Given the description of an element on the screen output the (x, y) to click on. 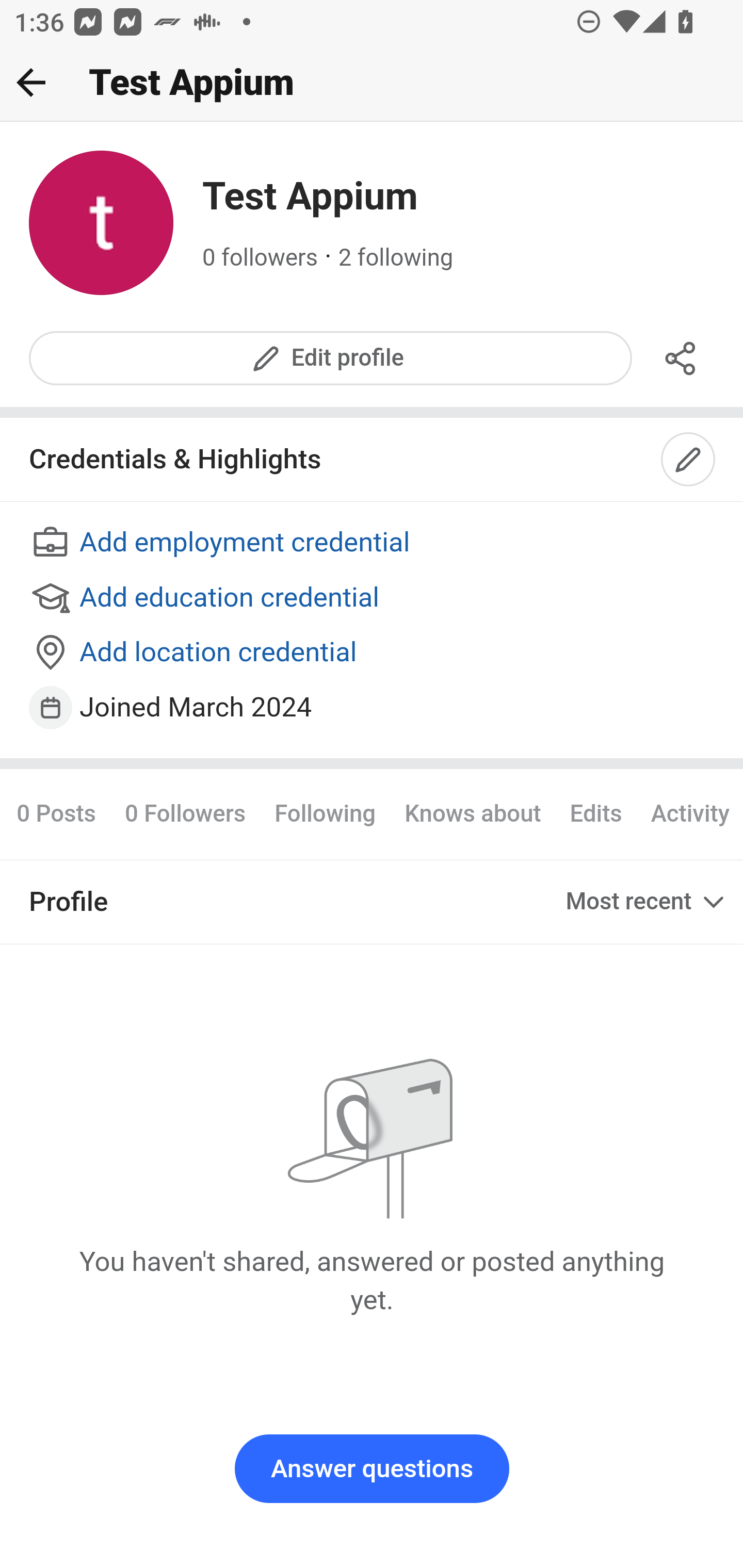
Back Test Appium (371, 82)
Back (30, 82)
0 followers (260, 257)
2 following (395, 257)
Share (681, 358)
Edit profile (330, 357)
Edit credentials (688, 459)
Add employment credential (372, 543)
Add education credential (372, 598)
Add location credential (372, 653)
0 Posts (63, 813)
0 Followers (184, 813)
Following (325, 813)
Knows about (473, 813)
Edits (595, 813)
Activity (689, 813)
Most recent (647, 901)
Answer questions (371, 1469)
